Given the description of an element on the screen output the (x, y) to click on. 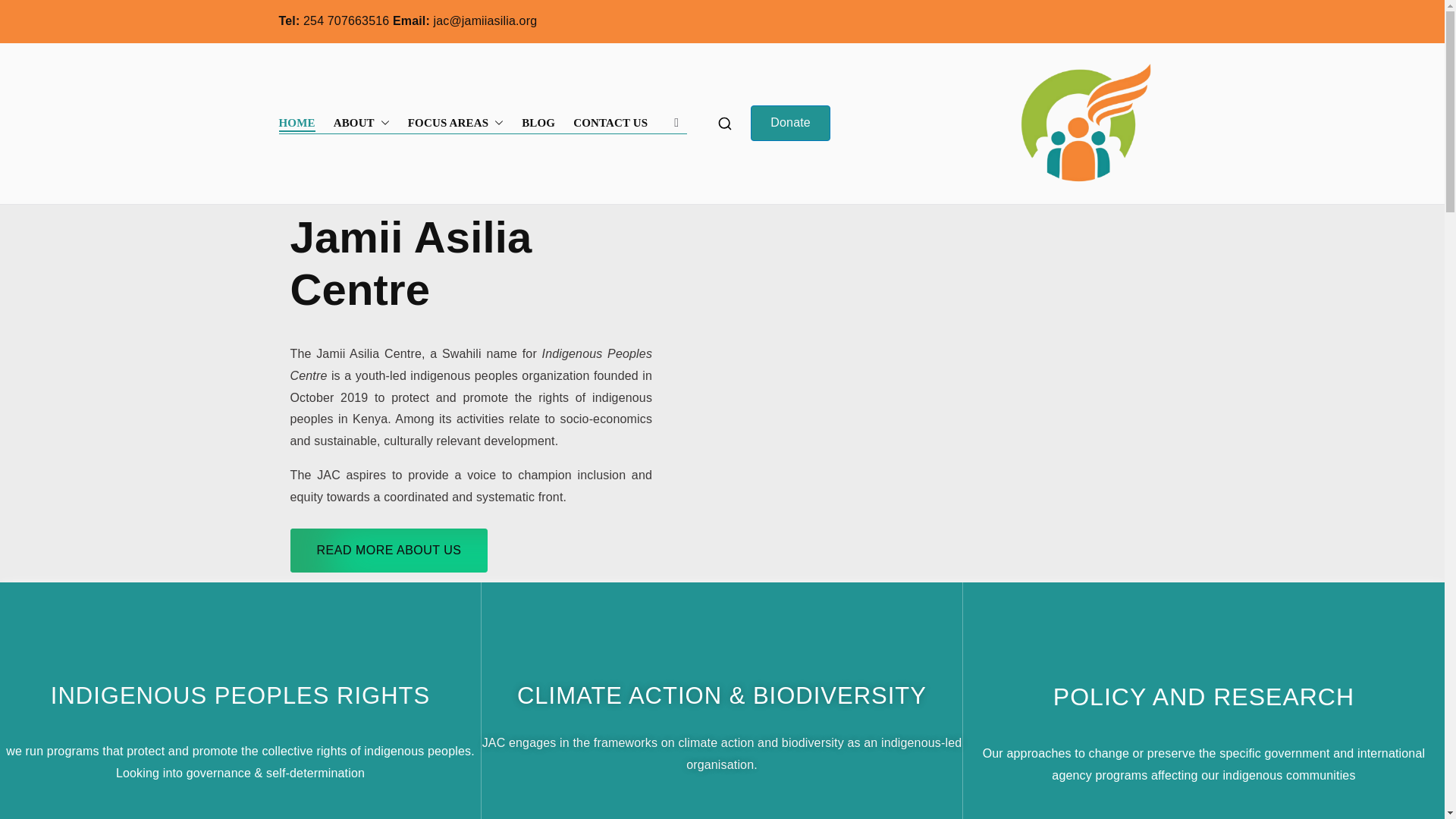
ABOUT (361, 122)
Donate (790, 122)
BLOG (537, 122)
CONTACT US (610, 122)
HOME (297, 122)
FOCUS AREAS (455, 122)
Search (27, 12)
